Given the description of an element on the screen output the (x, y) to click on. 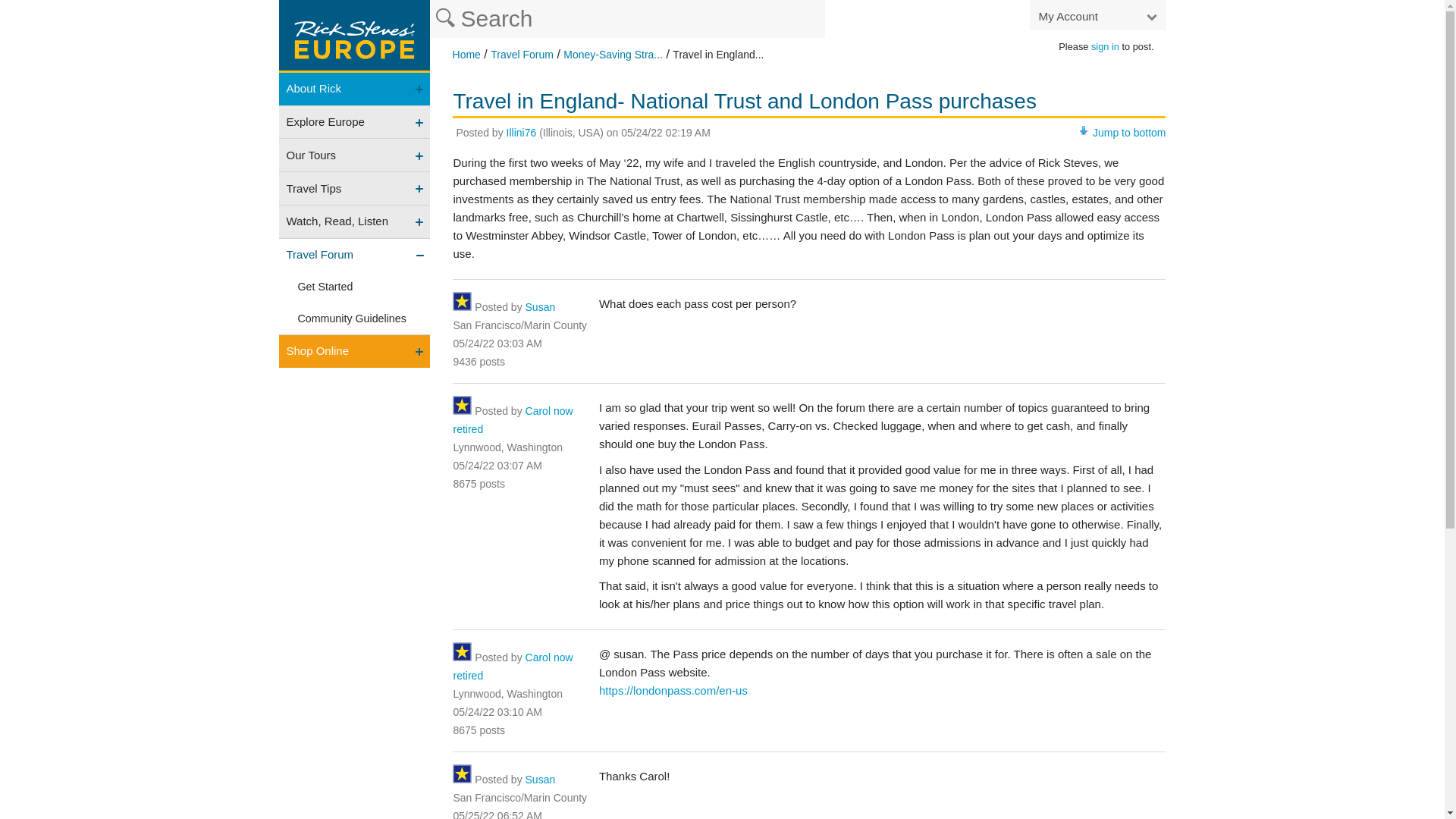
Community Guidelines (354, 318)
Our Tours (354, 154)
My Account (1097, 15)
Money-Saving Strategies: Share your best budget tips (612, 54)
Topic: 331262 (665, 132)
Shop Online (354, 350)
Carol now retired (512, 419)
Reply: 1920513 (496, 343)
Travel Forum (354, 255)
Carol now retired (512, 666)
Carol now retired (512, 666)
Illini76 (521, 132)
Reply: 1920517 (496, 465)
Reply: 1920520 (496, 711)
Explore Europe (354, 122)
